Given the description of an element on the screen output the (x, y) to click on. 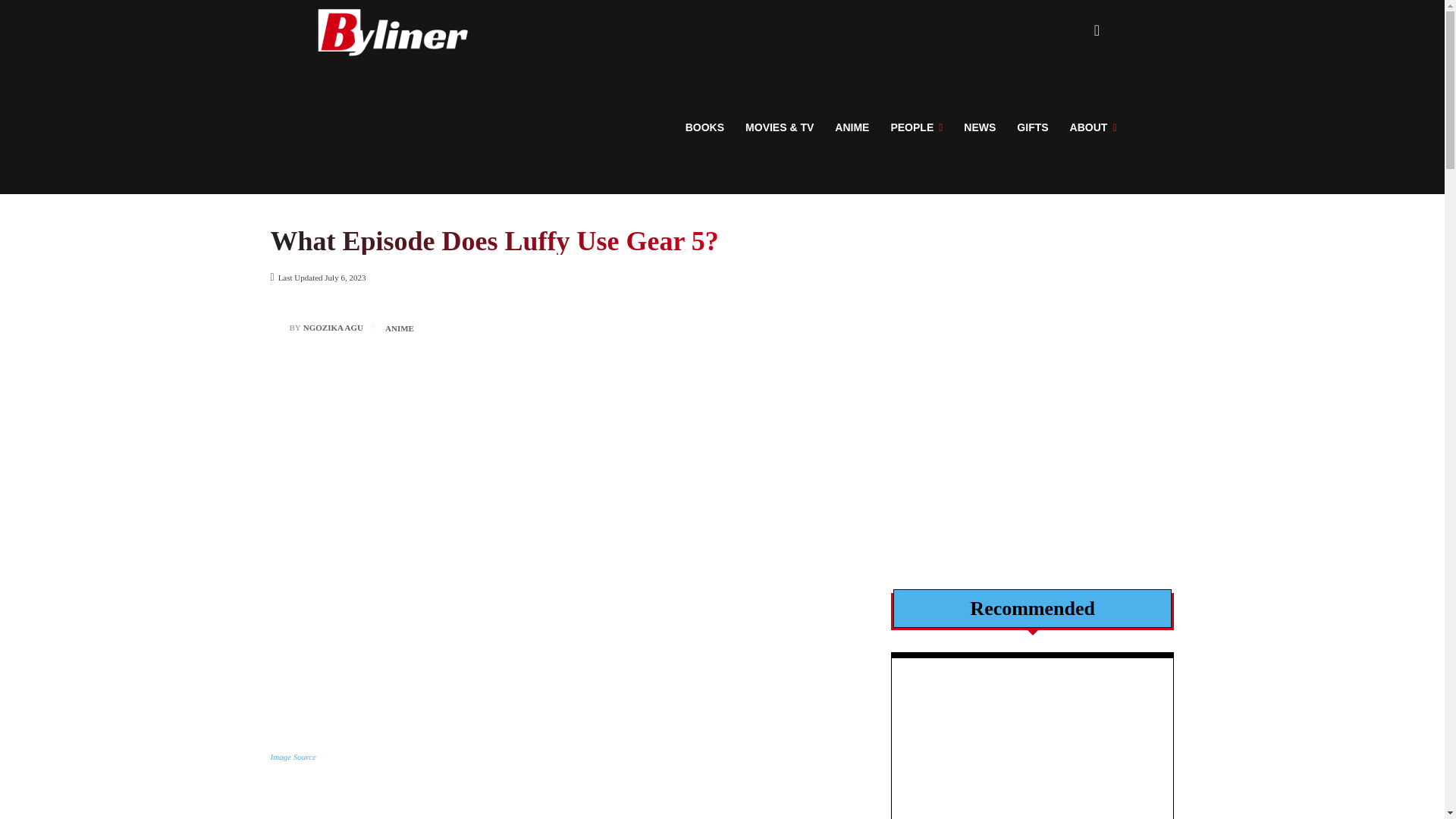
Image Source (292, 756)
PEOPLE (916, 127)
Ngozika Agu (278, 327)
ANIME (399, 328)
Advertisement (562, 810)
NGOZIKA AGU (332, 327)
ANIME (851, 127)
BOOKS (705, 127)
ABOUT (1092, 127)
